Given the description of an element on the screen output the (x, y) to click on. 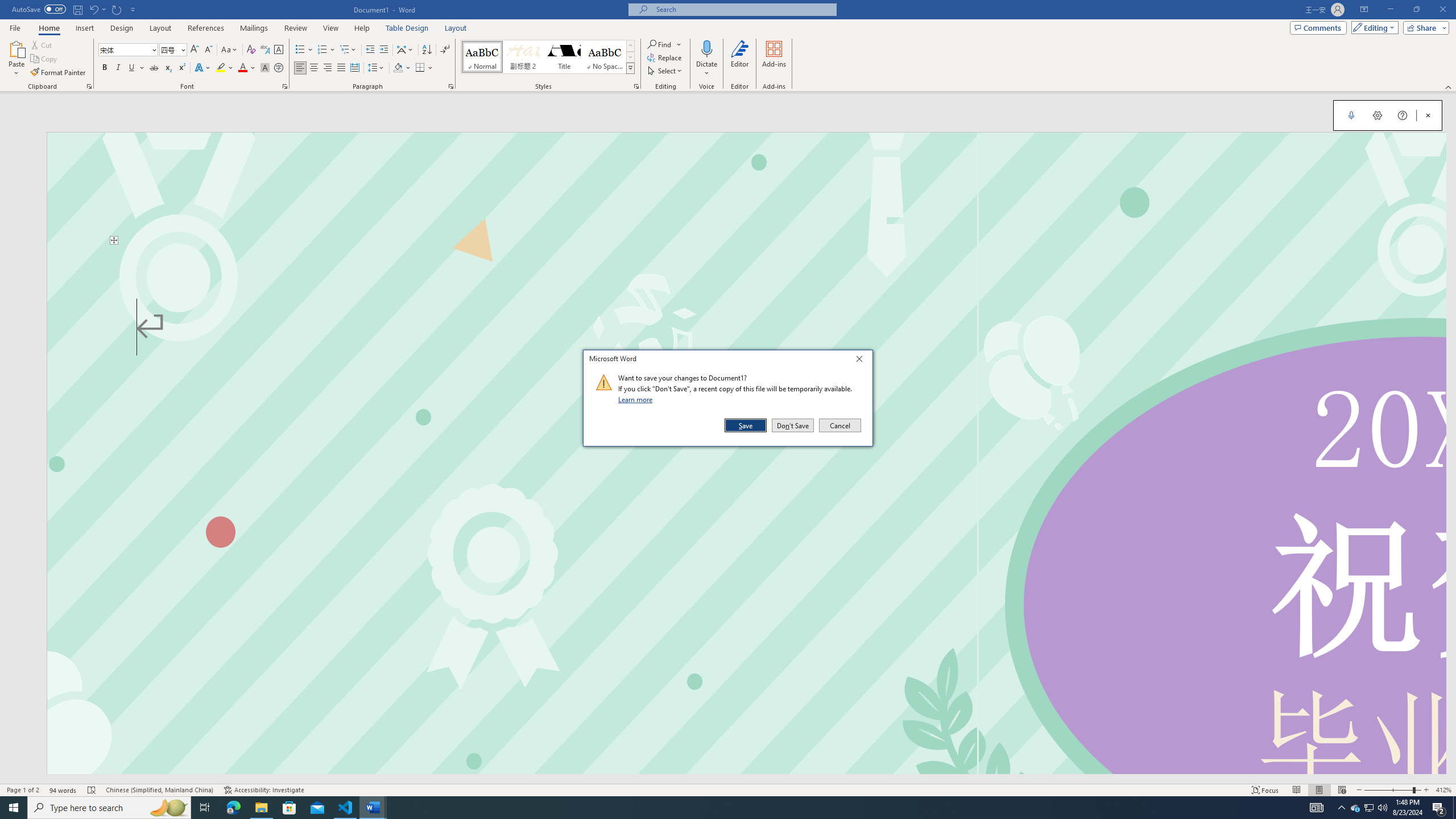
Notification Chevron (1341, 807)
Visual Studio Code - 1 running window (345, 807)
